Given the description of an element on the screen output the (x, y) to click on. 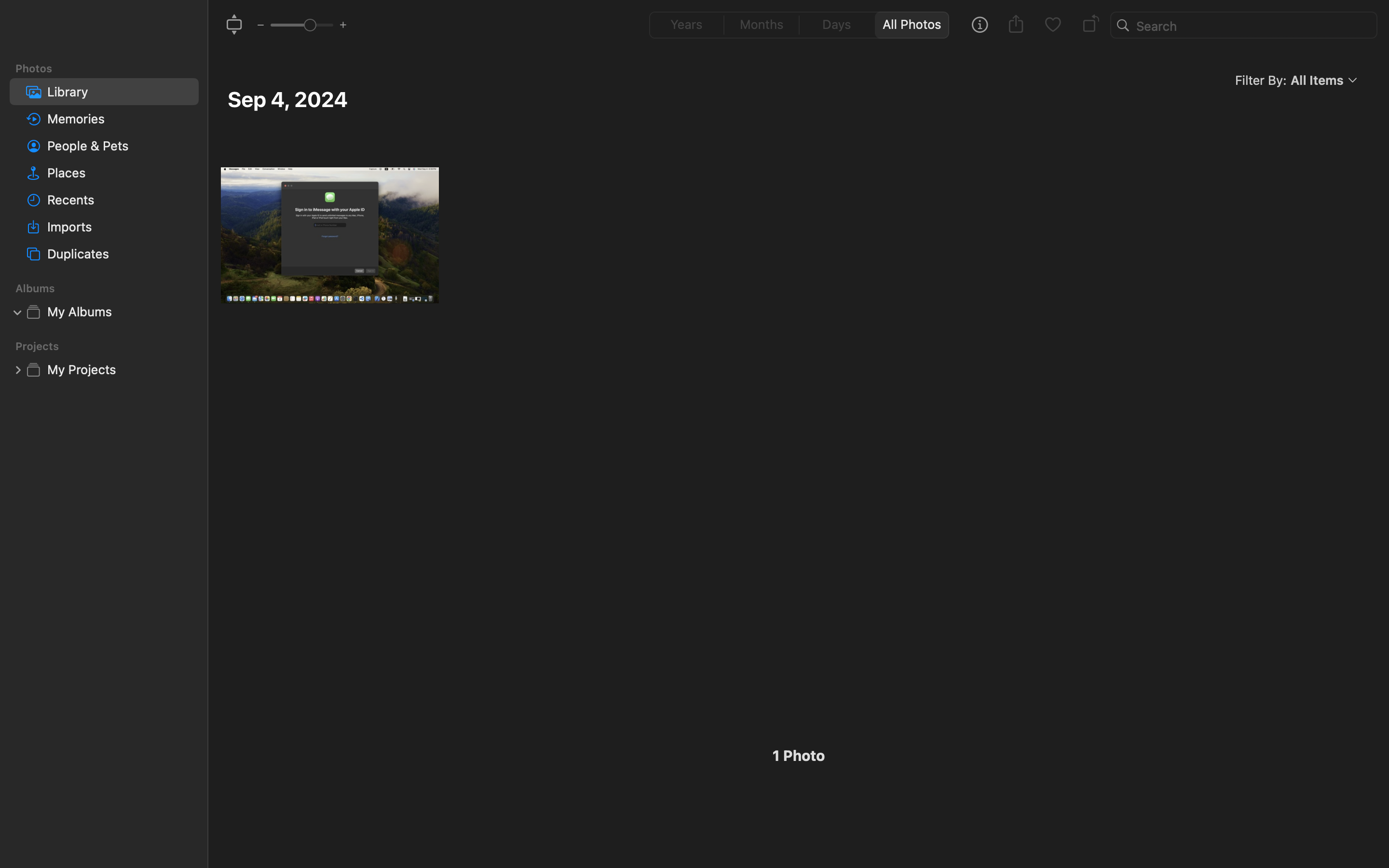
2.0 Element type: AXSlider (301, 24)
People & Pets Element type: AXStaticText (118, 145)
Recents Element type: AXStaticText (118, 199)
My Albums Element type: AXStaticText (118, 311)
1 Element type: AXDisclosureTriangle (17, 311)
